Given the description of an element on the screen output the (x, y) to click on. 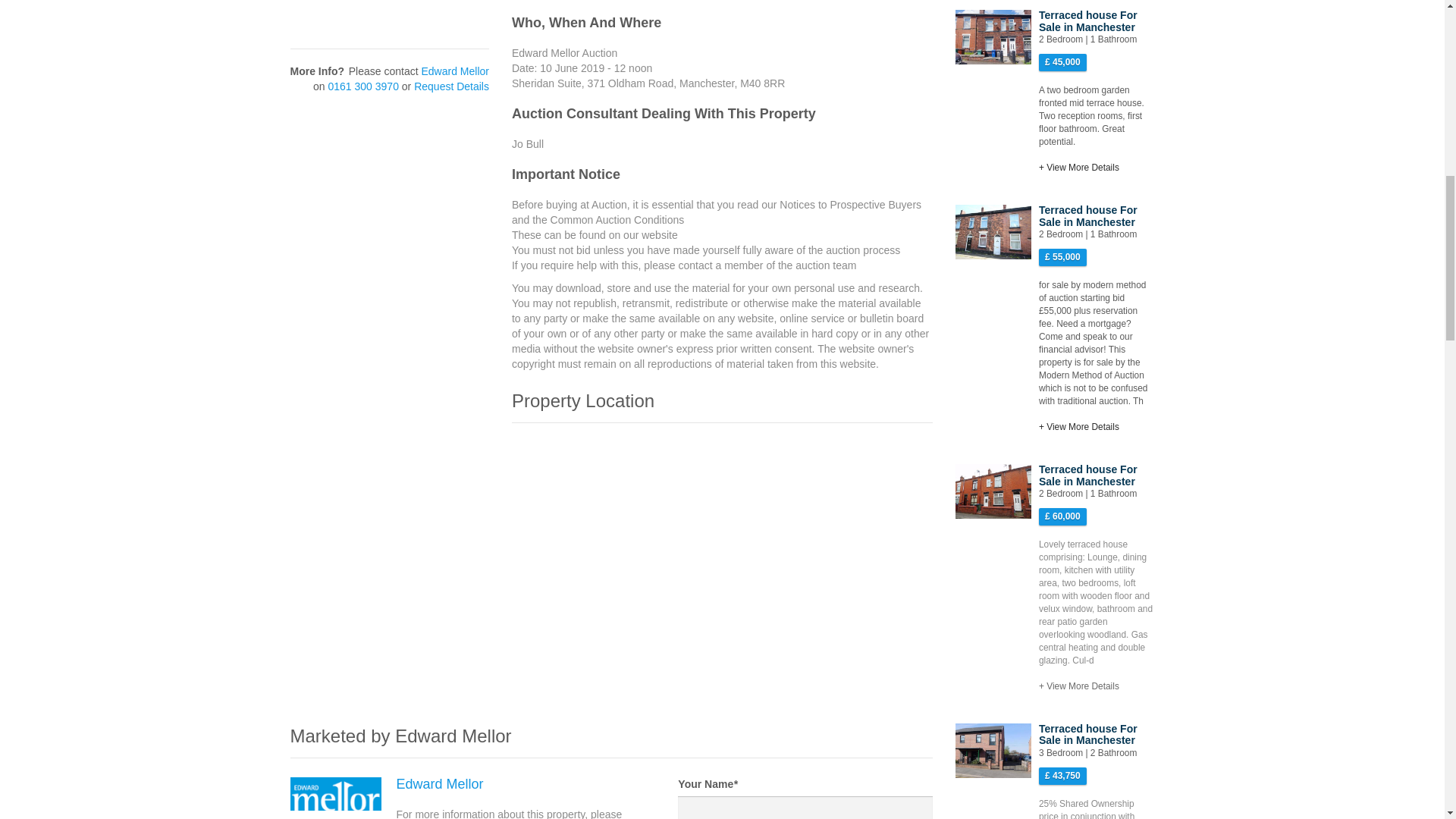
0161 300 3970 (362, 86)
Request Details (451, 86)
Edward Mellor (439, 783)
Edward Mellor (455, 70)
